Given the description of an element on the screen output the (x, y) to click on. 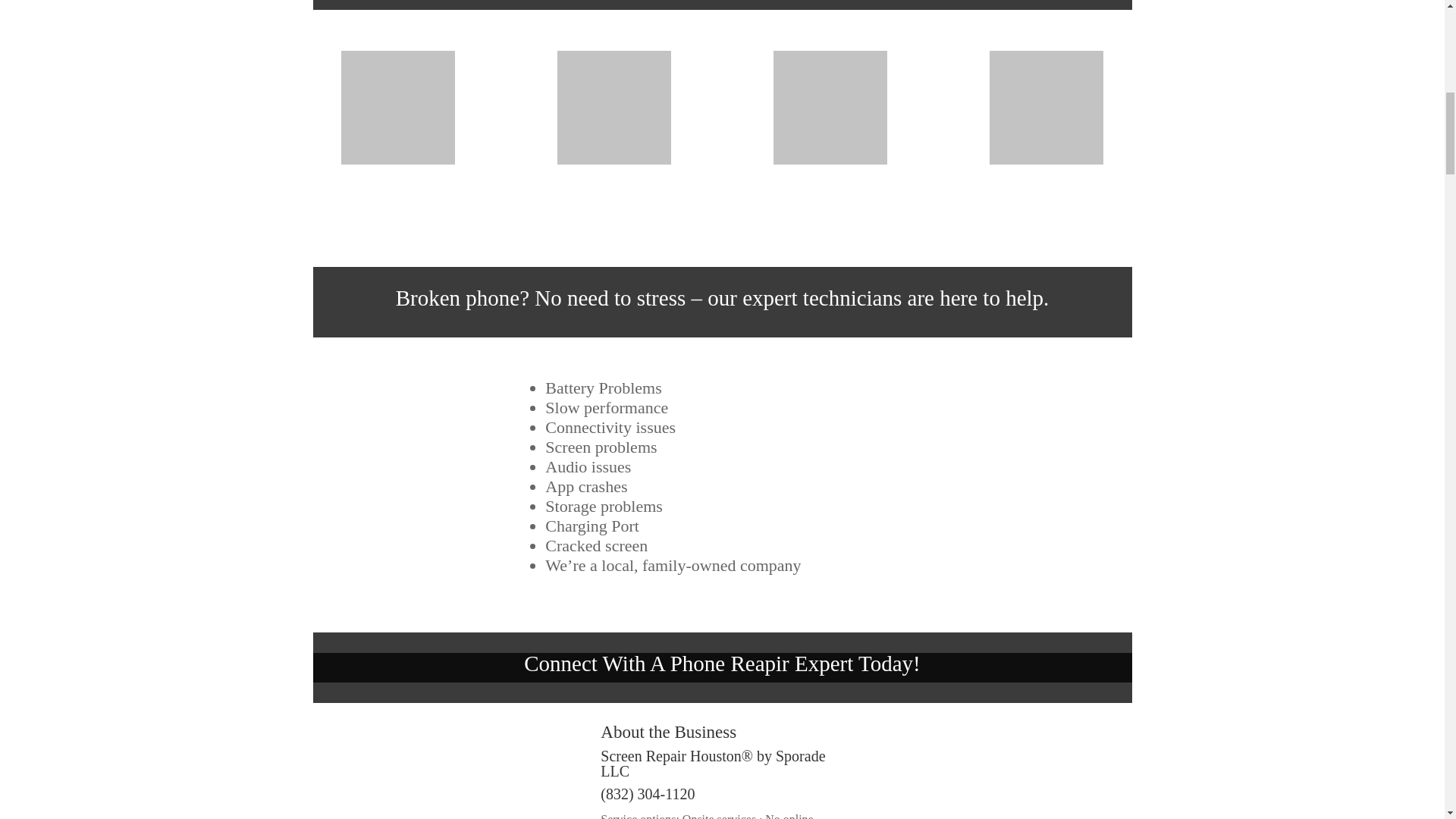
s (614, 107)
m (829, 107)
download (1046, 107)
a (397, 107)
